Given the description of an element on the screen output the (x, y) to click on. 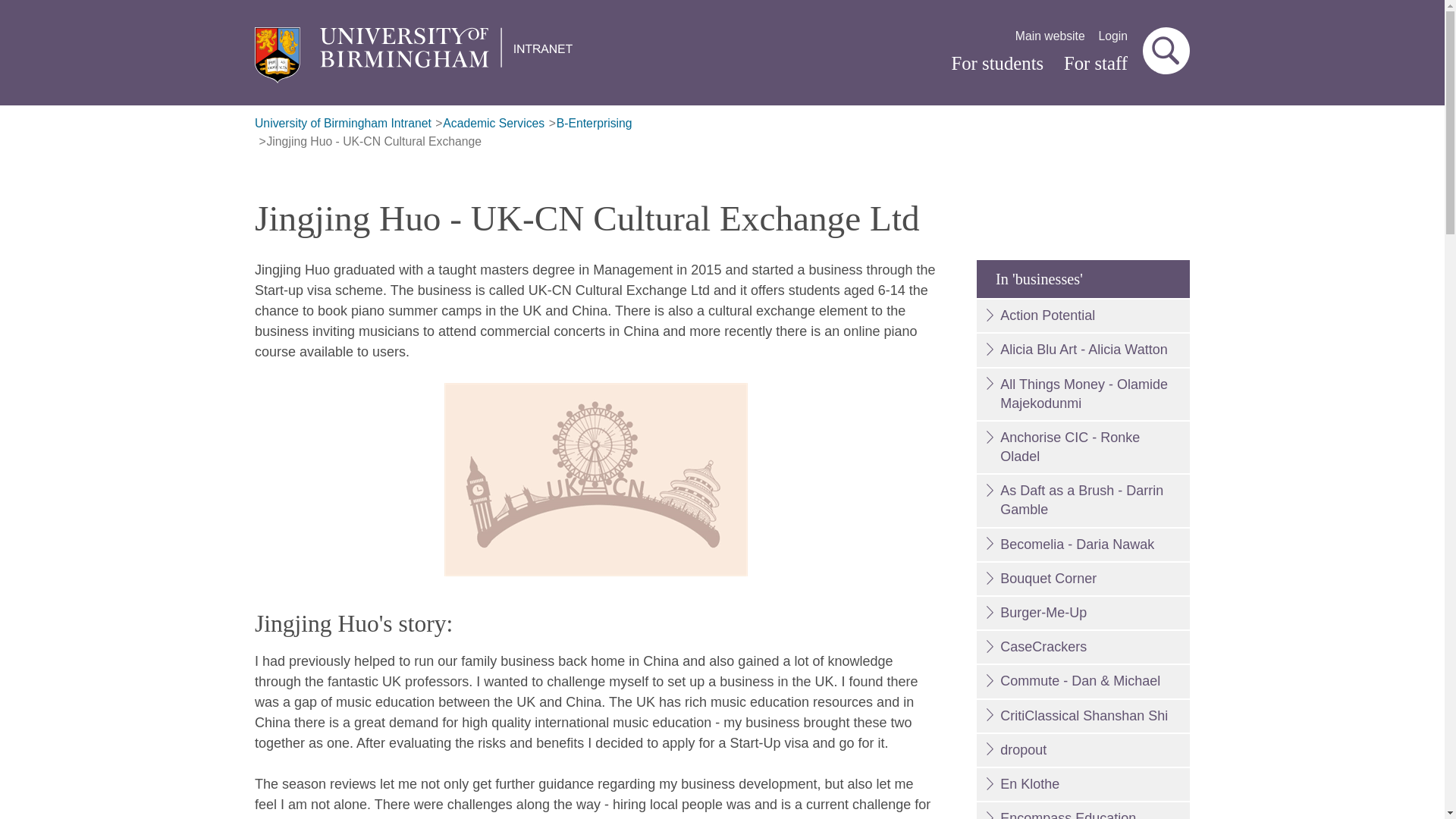
All Things Money - Olamide Majekodunmi (1082, 394)
Main website (1050, 36)
Anchorise CIC - Ronke Oladel (1082, 447)
Burger-Me-Up (1082, 613)
CaseCrackers (1082, 646)
Bouquet Corner (1082, 578)
CritiClassical Shanshan Shi (1082, 716)
Action Potential (1082, 315)
Login (1112, 36)
B-Enterprising (593, 123)
Jingjing Huo - UK-CN Cultural Exchange (373, 141)
Academic Services (493, 123)
For staff (1095, 63)
Becomelia - Daria Nawak (1082, 544)
University of Birmingham Intranet (342, 123)
